Given the description of an element on the screen output the (x, y) to click on. 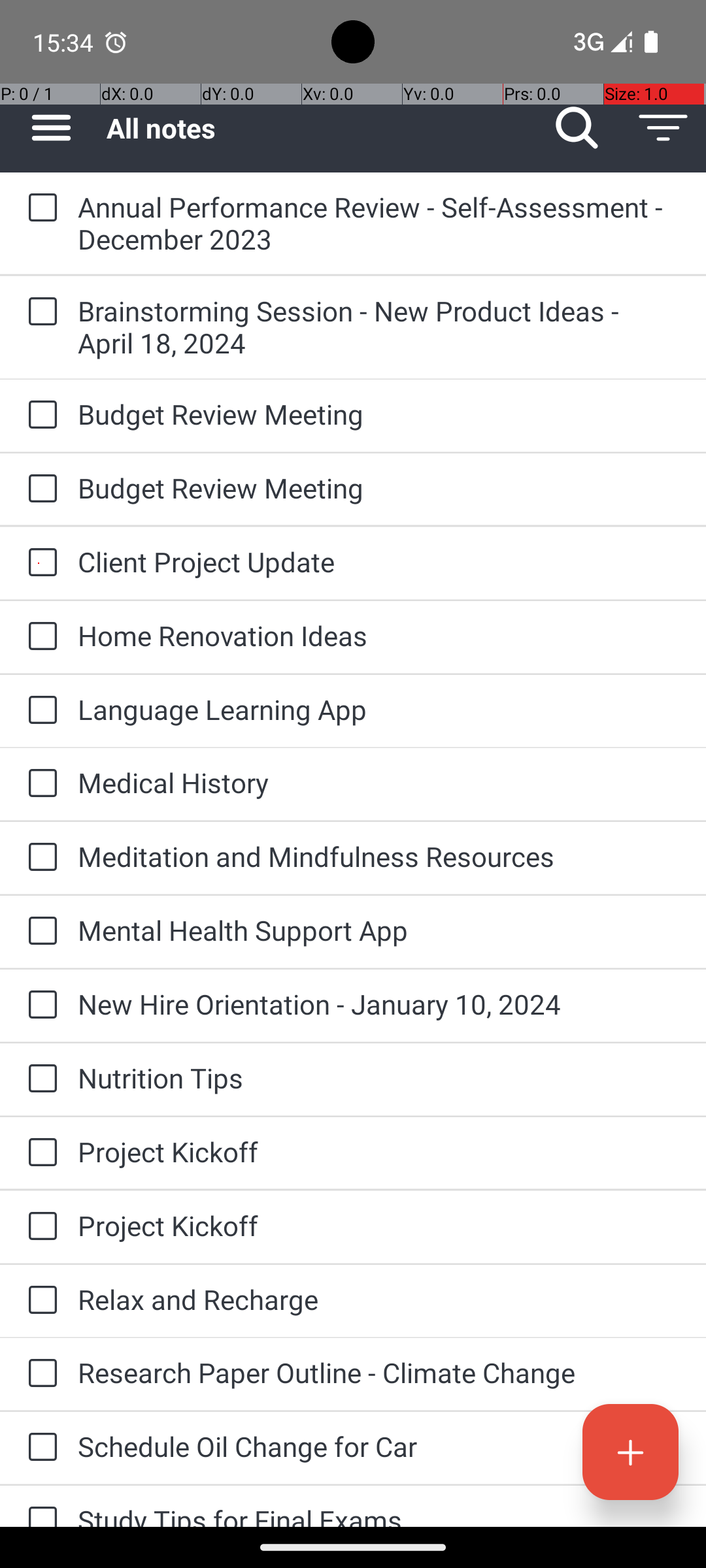
to-do: Brainstorming Session - New Product Ideas - April 18, 2024 Element type: android.widget.CheckBox (38, 312)
Brainstorming Session - New Product Ideas - April 18, 2024 Element type: android.widget.TextView (378, 326)
to-do: Client Project Update Element type: android.widget.CheckBox (38, 563)
Client Project Update Element type: android.widget.TextView (378, 561)
to-do: Home Renovation Ideas Element type: android.widget.CheckBox (38, 636)
Home Renovation Ideas Element type: android.widget.TextView (378, 634)
to-do: Language Learning App Element type: android.widget.CheckBox (38, 710)
Language Learning App Element type: android.widget.TextView (378, 708)
to-do: Medical History Element type: android.widget.CheckBox (38, 784)
Medical History Element type: android.widget.TextView (378, 781)
to-do: Mental Health Support App Element type: android.widget.CheckBox (38, 931)
Mental Health Support App Element type: android.widget.TextView (378, 929)
to-do: Relax and Recharge Element type: android.widget.CheckBox (38, 1300)
Relax and Recharge Element type: android.widget.TextView (378, 1298)
to-do: Schedule Oil Change for Car Element type: android.widget.CheckBox (38, 1447)
Schedule Oil Change for Car Element type: android.widget.TextView (378, 1445)
to-do: Study Tips for Final Exams Element type: android.widget.CheckBox (38, 1505)
Study Tips for Final Exams Element type: android.widget.TextView (378, 1513)
